Given the description of an element on the screen output the (x, y) to click on. 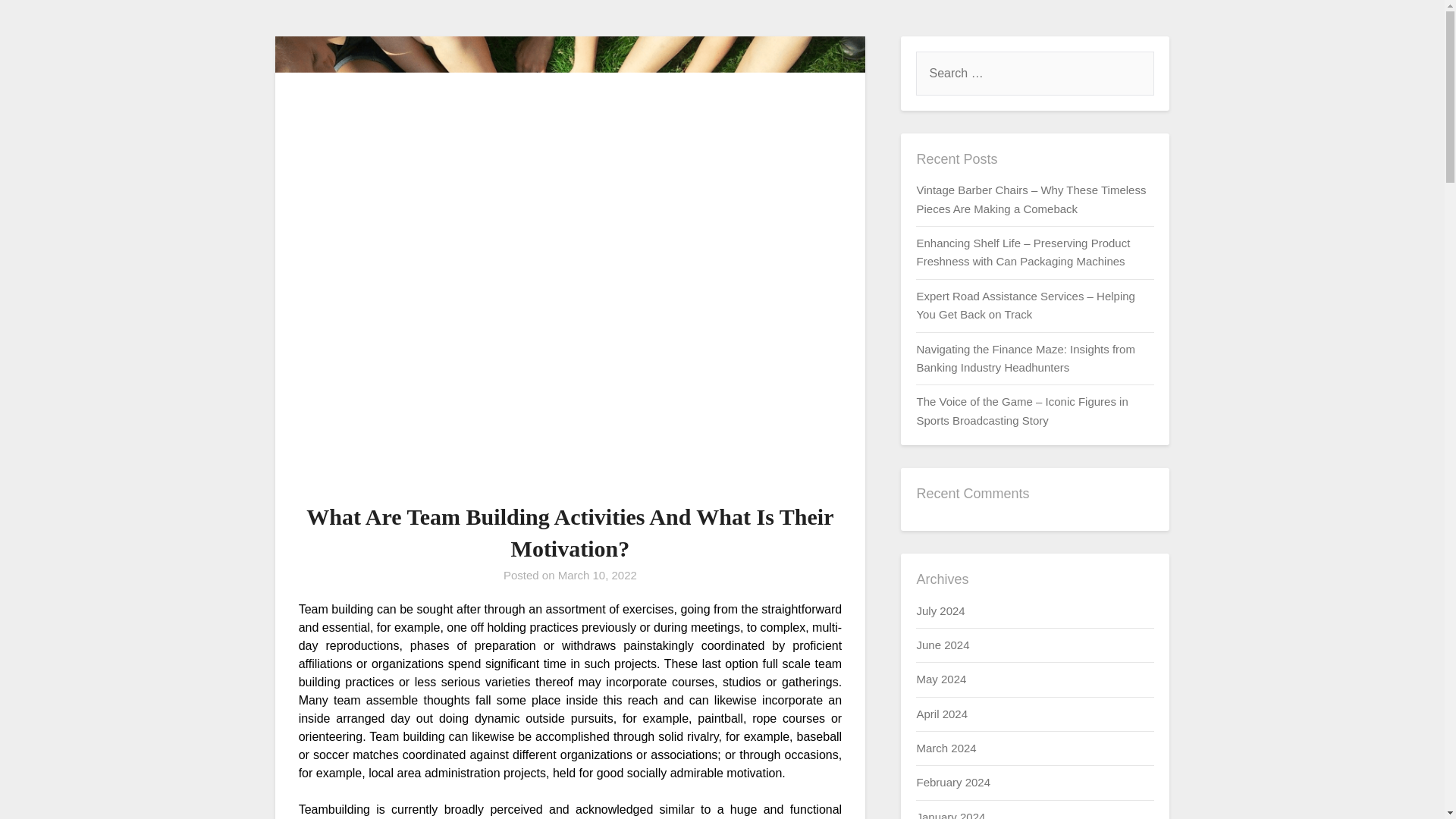
June 2024 (942, 644)
May 2024 (940, 678)
April 2024 (941, 713)
March 2024 (945, 748)
July 2024 (939, 609)
February 2024 (952, 781)
January 2024 (950, 814)
Search (37, 22)
March 10, 2022 (597, 574)
